Given the description of an element on the screen output the (x, y) to click on. 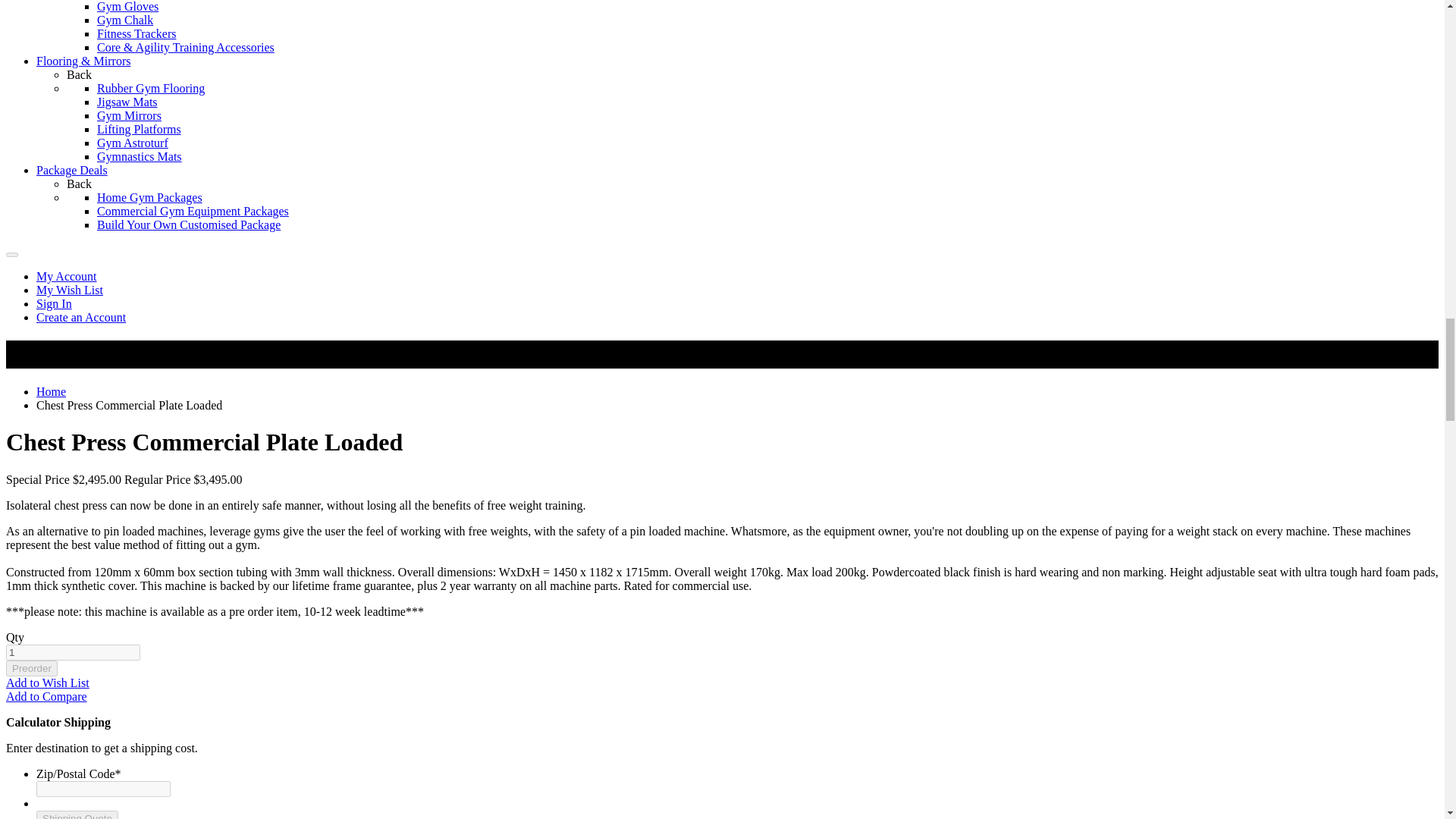
Go to Home Page (50, 391)
Shipping Quote (76, 814)
1 (72, 652)
Qty (72, 652)
Preorder (31, 668)
